Given the description of an element on the screen output the (x, y) to click on. 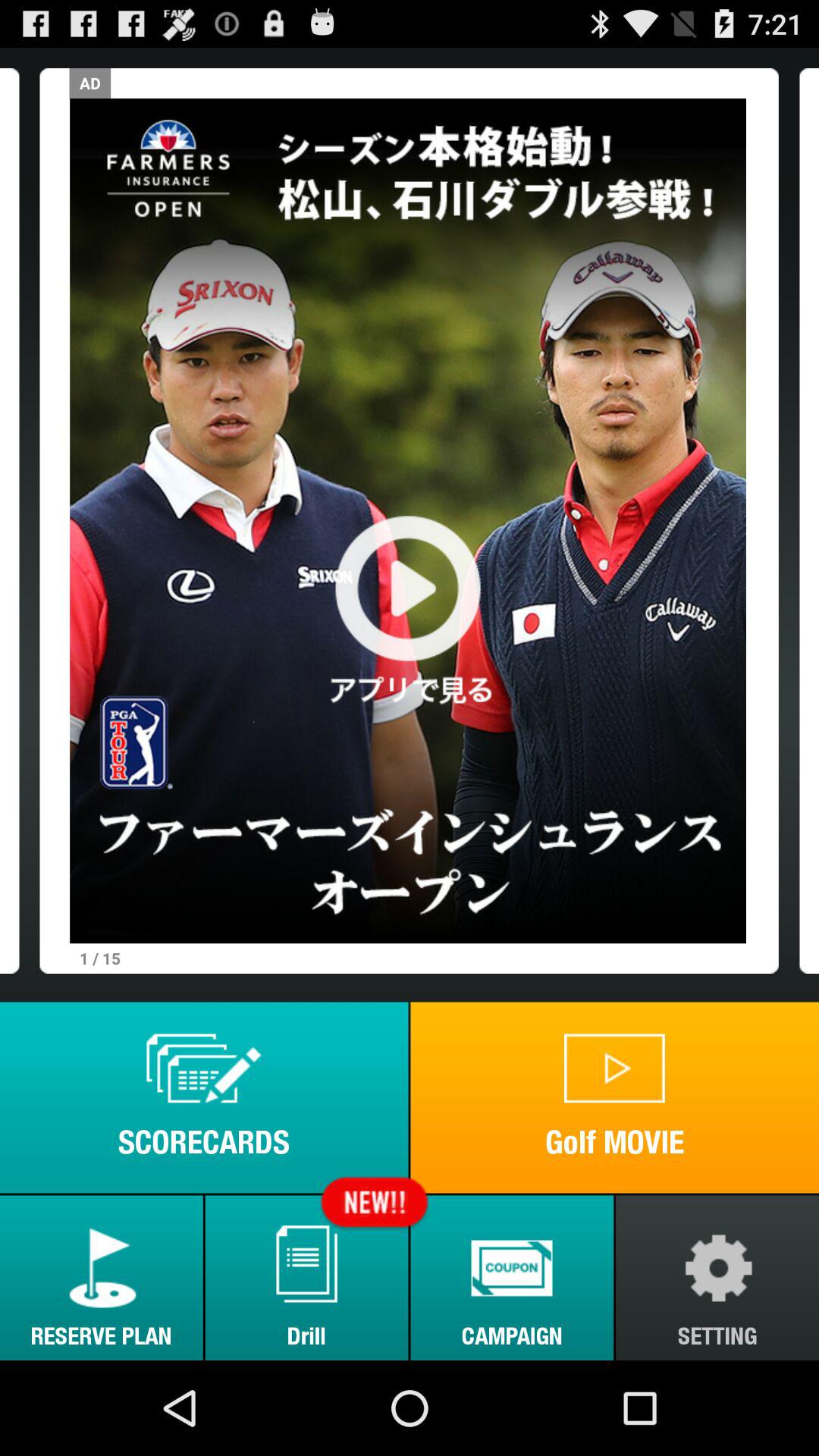
turn on the item to the left of the campaign icon (306, 1277)
